Given the description of an element on the screen output the (x, y) to click on. 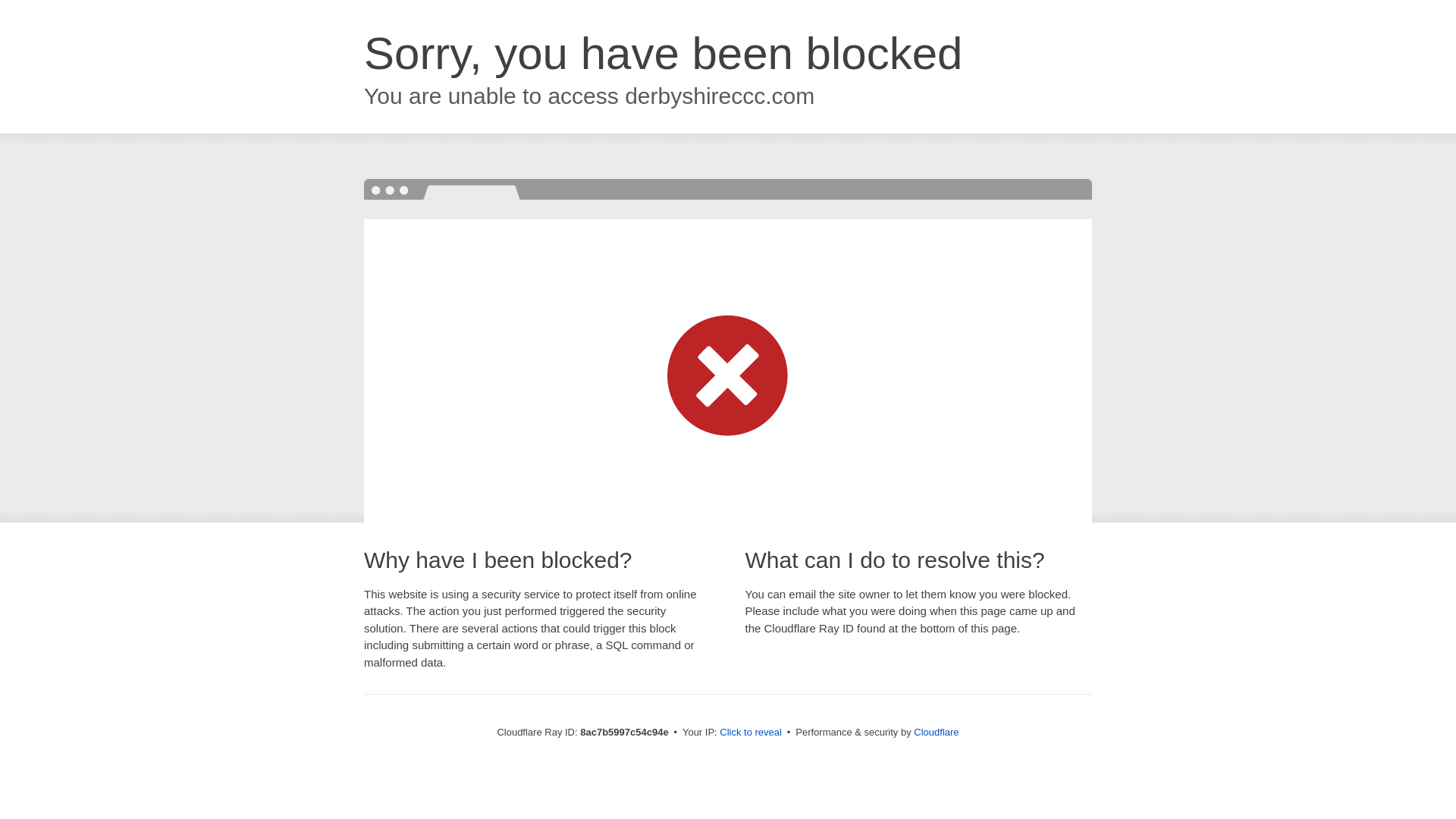
Click to reveal (750, 732)
Cloudflare (936, 731)
